Given the description of an element on the screen output the (x, y) to click on. 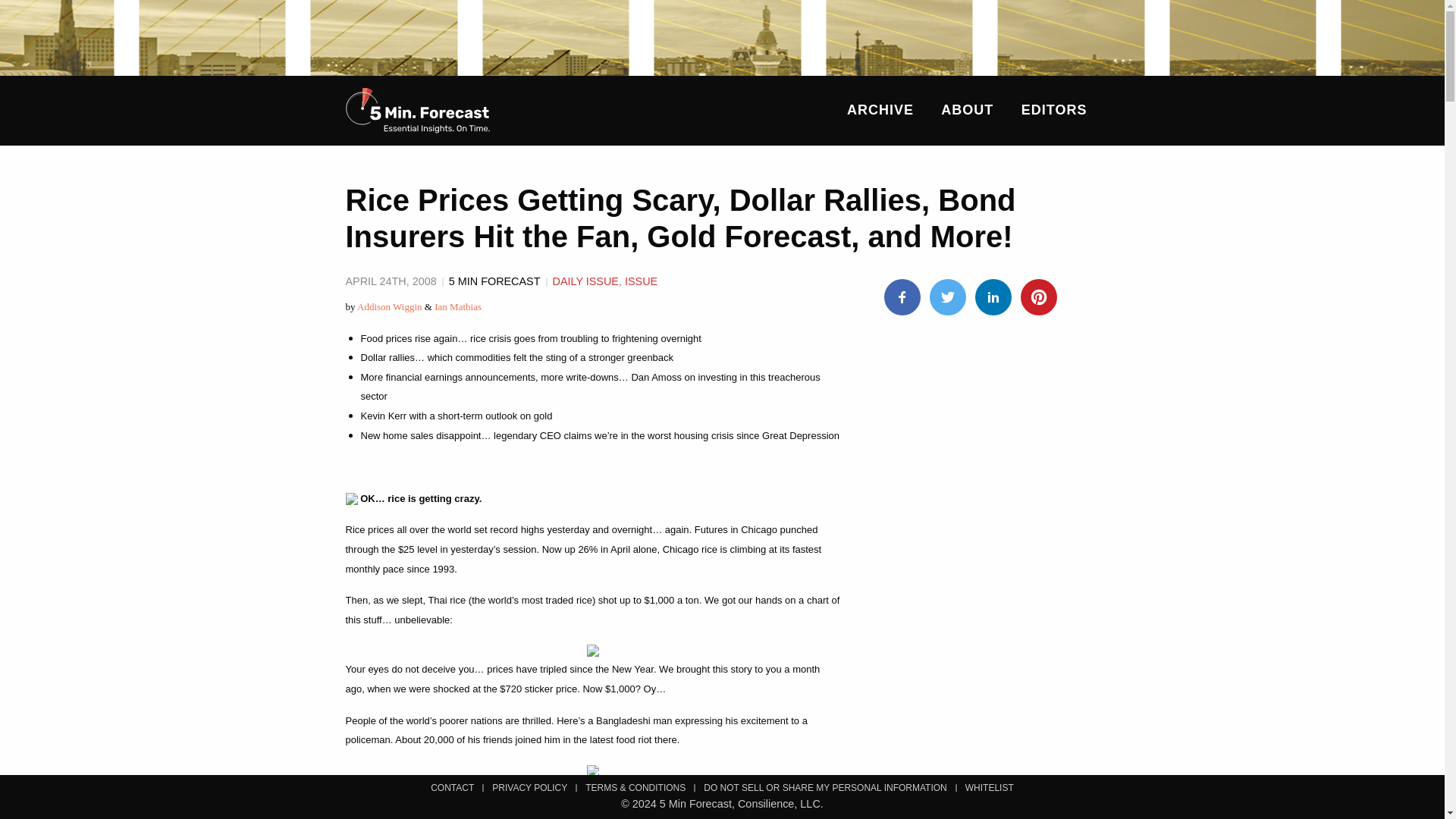
EDITORS (1054, 109)
DAILY ISSUE (584, 281)
Ian Mathias (457, 305)
5min Forecast (417, 110)
ARCHIVE (880, 109)
ISSUE (641, 281)
Addison Wiggin (389, 305)
ABOUT (966, 109)
